Given the description of an element on the screen output the (x, y) to click on. 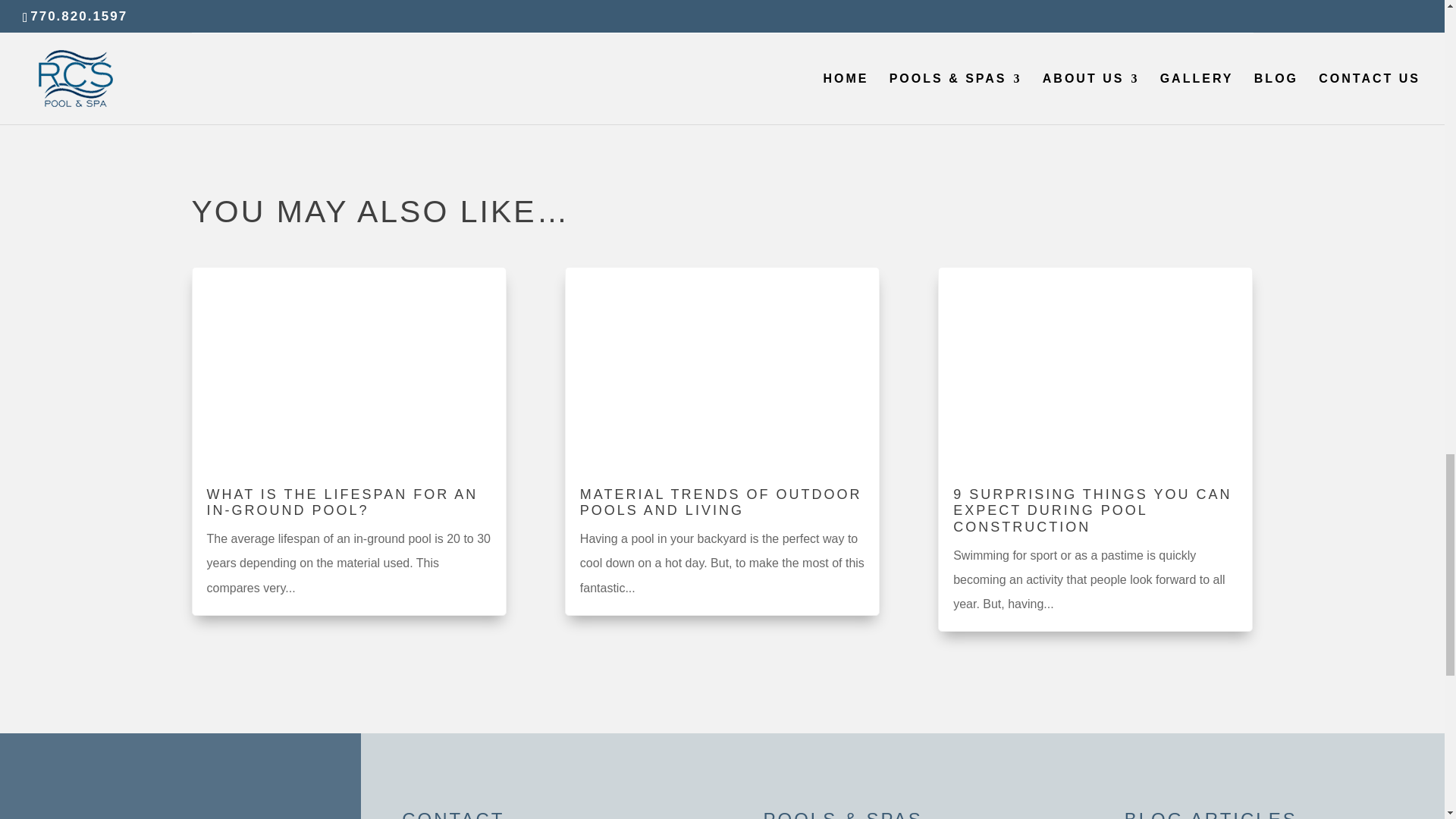
WHAT IS THE LIFESPAN FOR AN IN-GROUND POOL? (341, 502)
9 SURPRISING THINGS YOU CAN EXPECT DURING POOL CONSTRUCTION (1092, 510)
MATERIAL TRENDS OF OUTDOOR POOLS AND LIVING (720, 502)
